Given the description of an element on the screen output the (x, y) to click on. 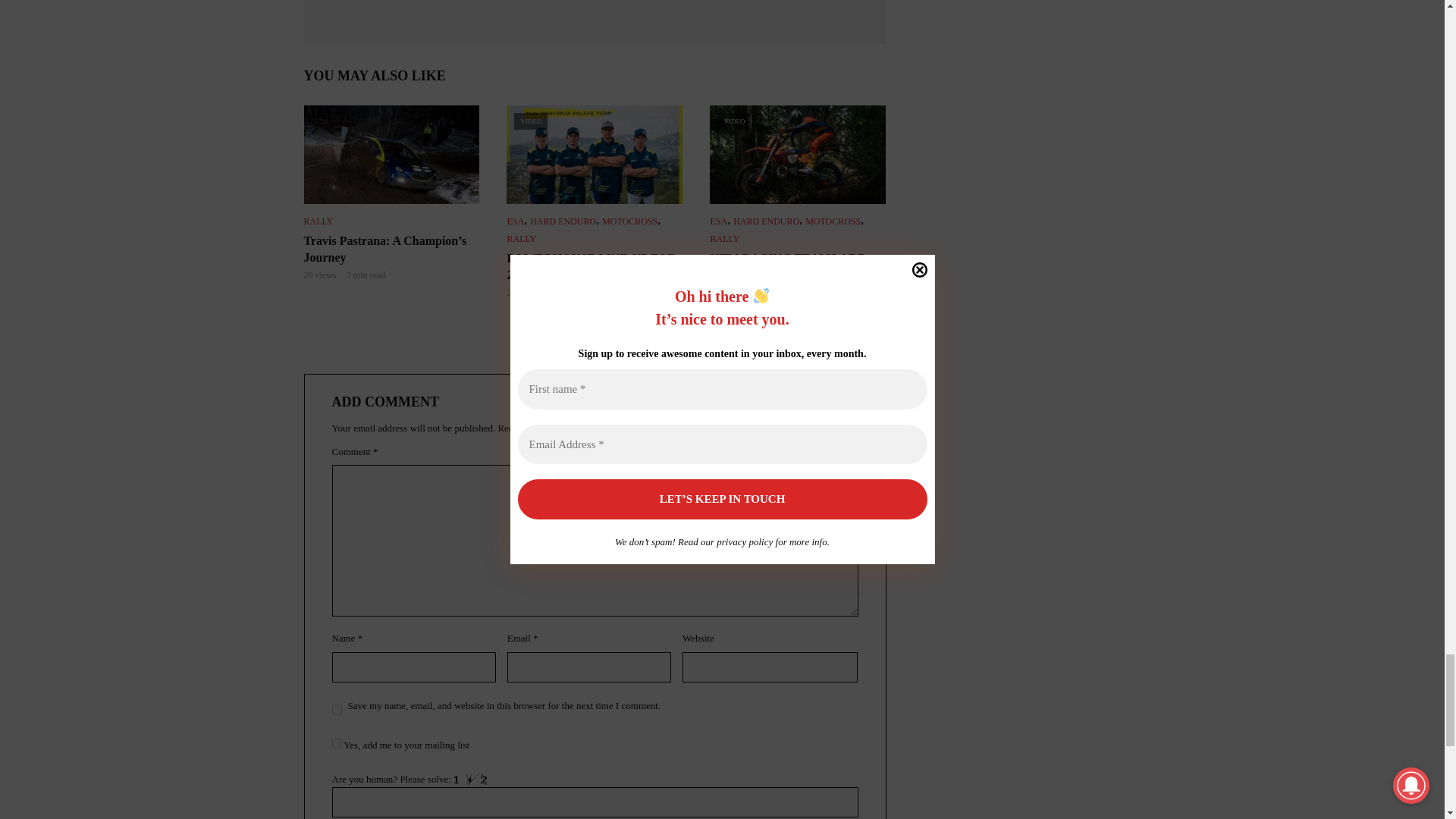
POWERHOUSE LINE-UP FOR 2024 HUSQVARNA RACING (594, 154)
1 (336, 743)
yes (336, 709)
KTM RACING TEAMS ARE ALL SET AND READY TO RACE FOR 2024 (797, 154)
